Given the description of an element on the screen output the (x, y) to click on. 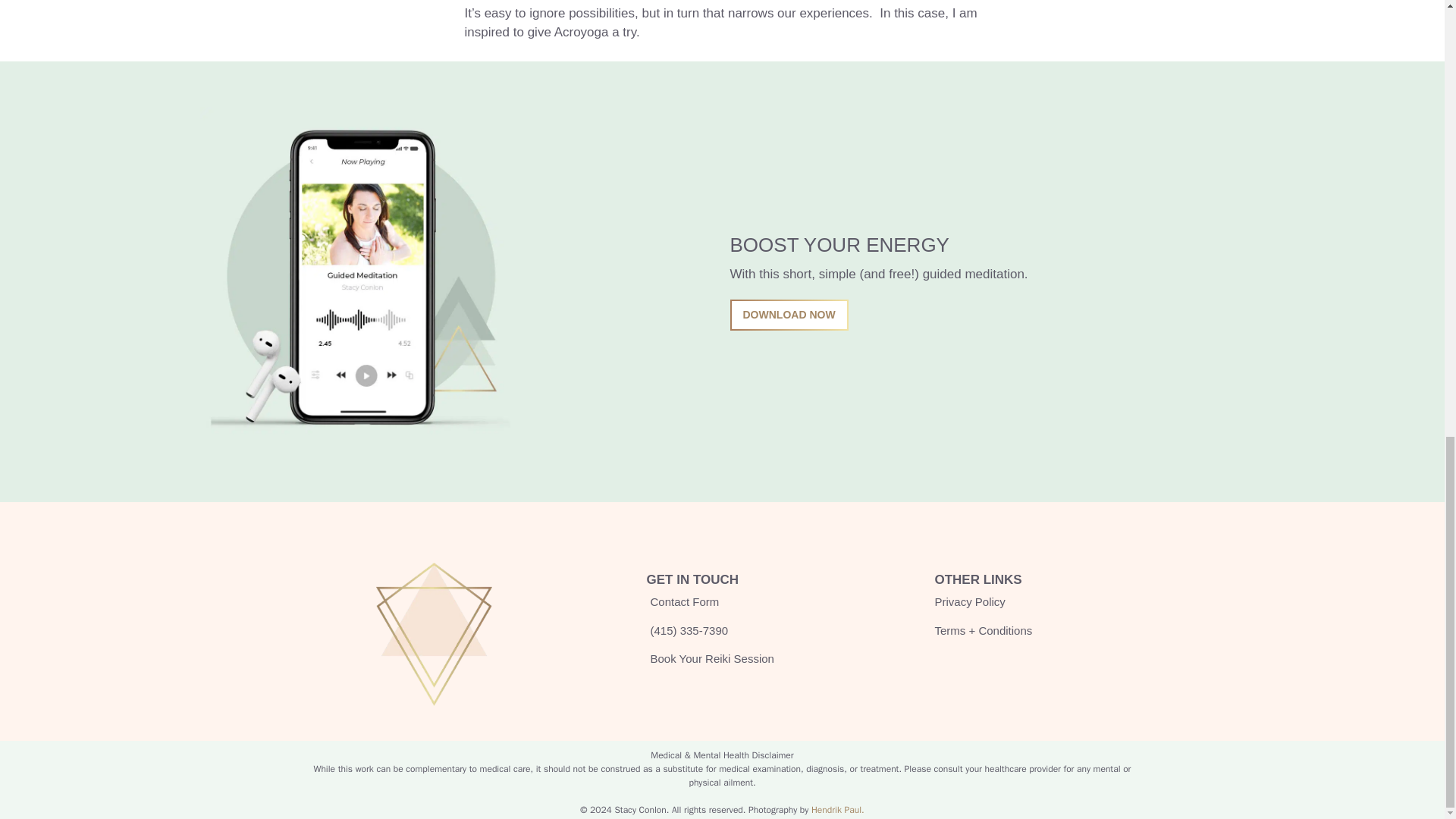
Privacy Policy (969, 601)
Book Your Reiki Session (709, 659)
Contact Form (682, 601)
DOWNLOAD NOW (788, 314)
Hendrik Paul. (837, 809)
